Given the description of an element on the screen output the (x, y) to click on. 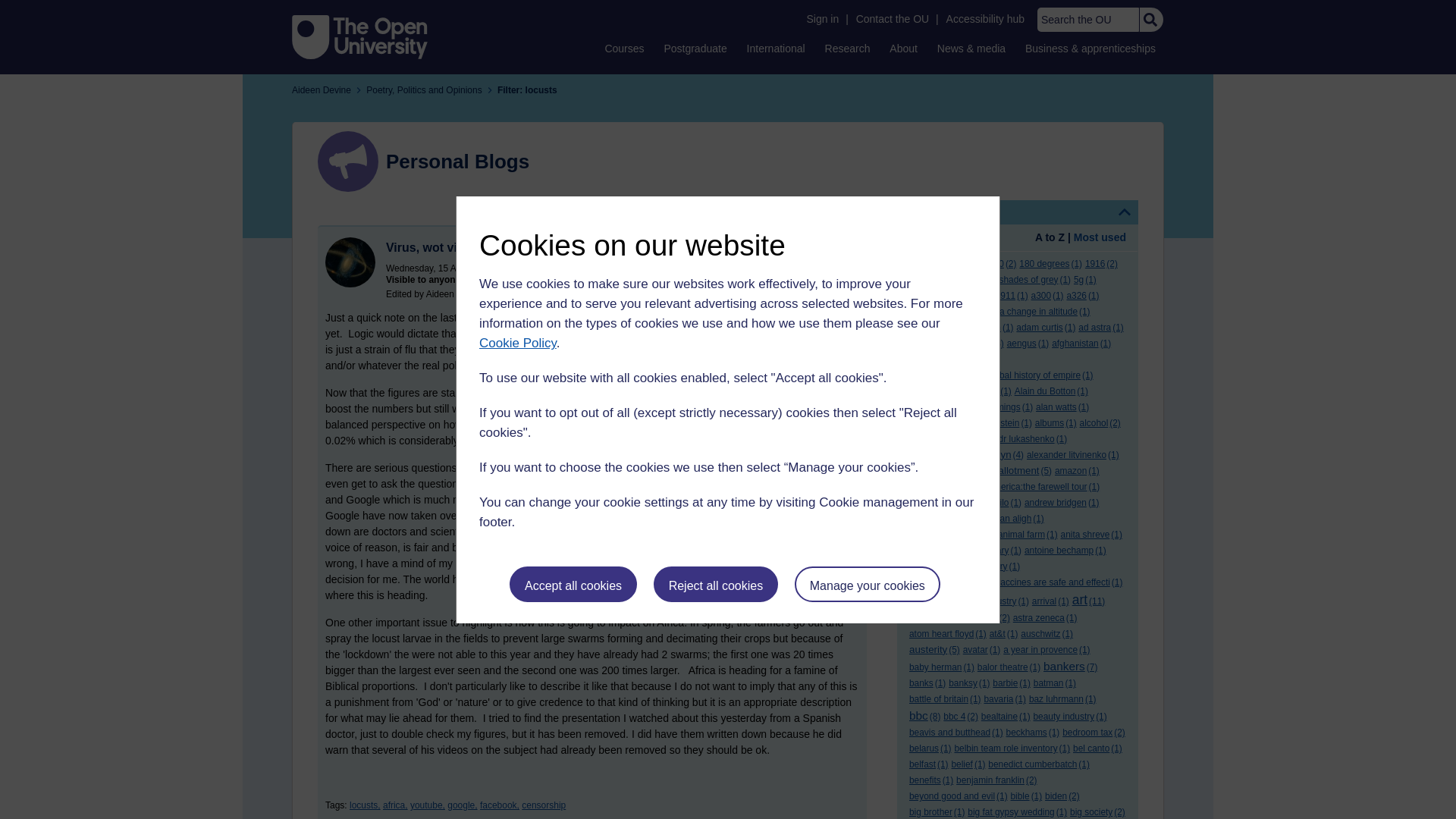
International (775, 48)
Accept all cookies (573, 583)
About (903, 48)
Postgraduate (695, 48)
Research (847, 48)
Accessibility hub (985, 19)
Help with Order: (951, 238)
Manage your cookies (867, 583)
Search (1149, 19)
